Given the description of an element on the screen output the (x, y) to click on. 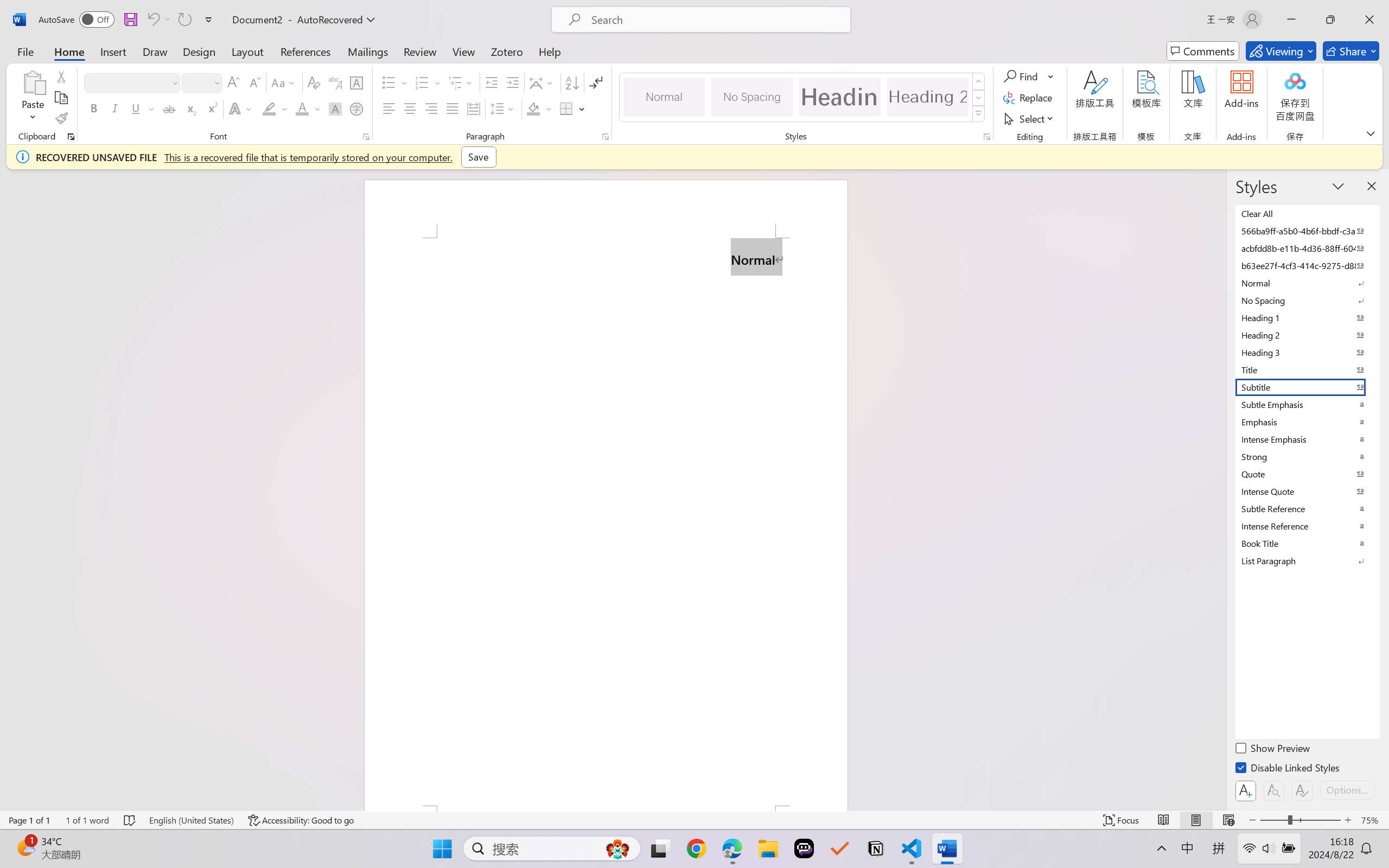
Select (1030, 118)
Character Border (356, 82)
Align Left (388, 108)
Cut (60, 75)
Text Effects and Typography (241, 108)
Emphasis (1306, 421)
No Spacing (1306, 300)
Open (215, 82)
Heading 2 (927, 96)
b63ee27f-4cf3-414c-9275-d88e3f90795e (1306, 265)
Options... (1346, 789)
Task Pane Options (1338, 185)
